Given the description of an element on the screen output the (x, y) to click on. 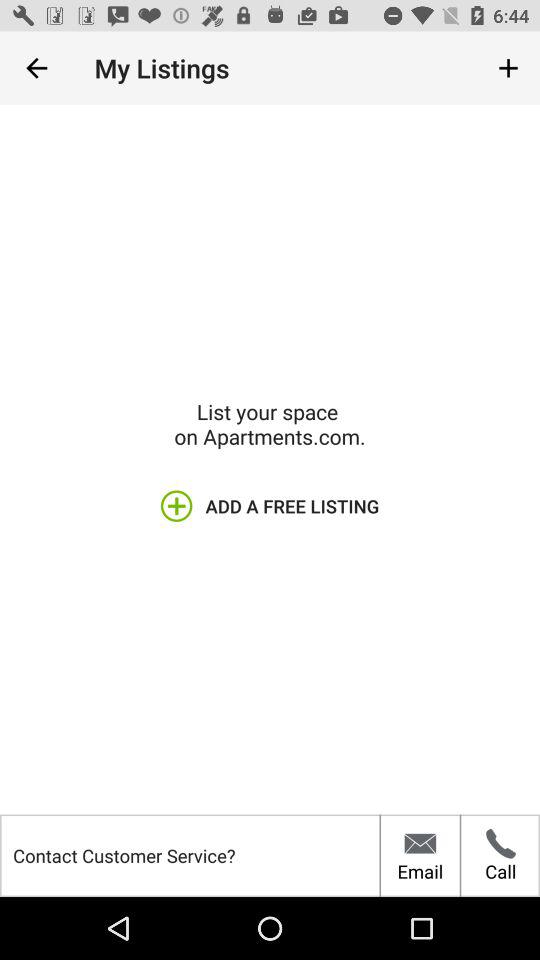
turn on icon above the contact customer service? (36, 68)
